Given the description of an element on the screen output the (x, y) to click on. 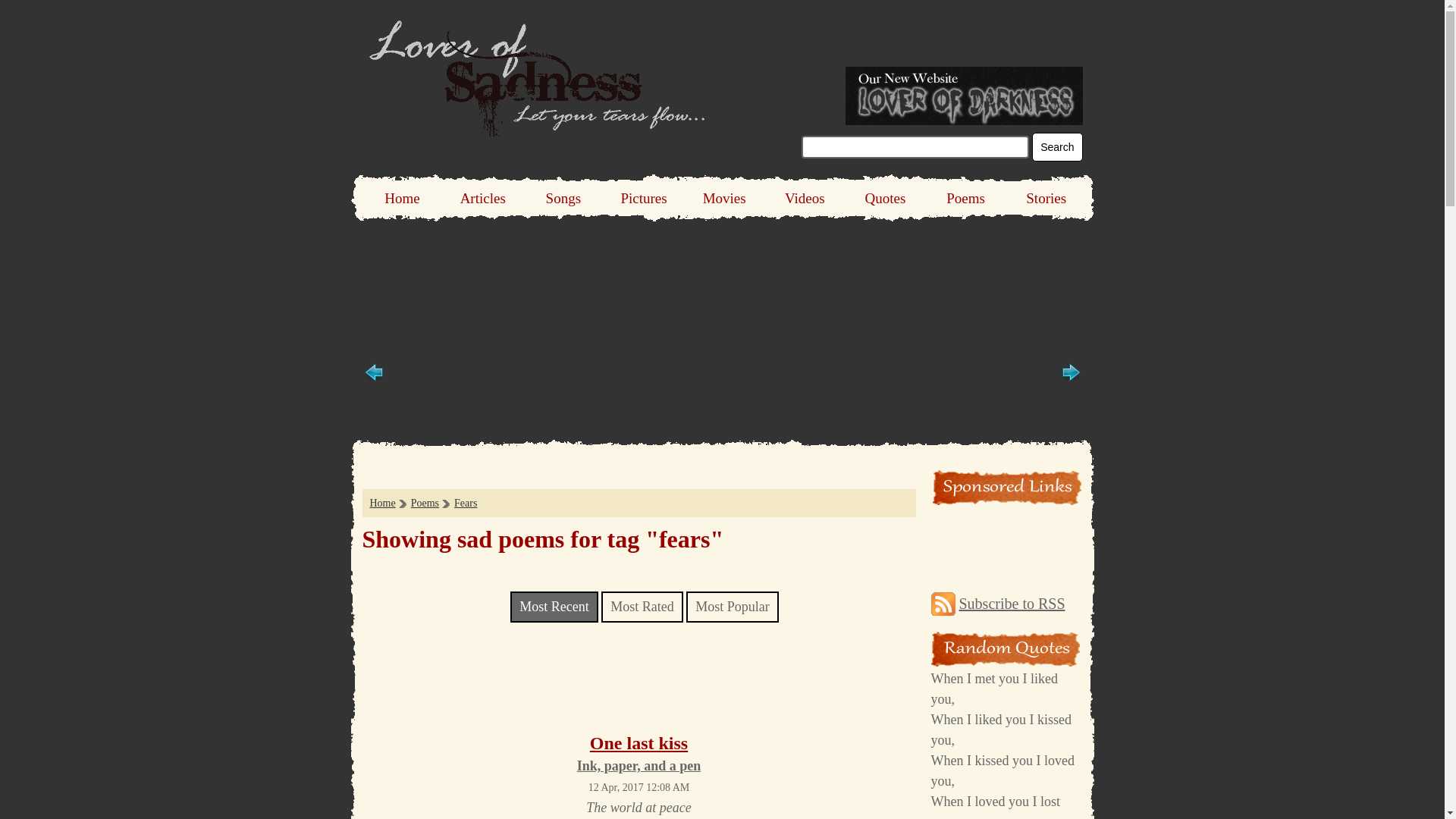
Advertisement (638, 679)
Ink, paper, and a pen (638, 765)
Articles (482, 198)
Home (402, 198)
Most Popular (732, 606)
Poems (965, 198)
Poems (424, 502)
Home (382, 502)
Fears (465, 502)
Advertisement (721, 264)
Videos (804, 198)
Search (1056, 146)
Most Recent (554, 606)
Search (1056, 146)
Movies (724, 198)
